Given the description of an element on the screen output the (x, y) to click on. 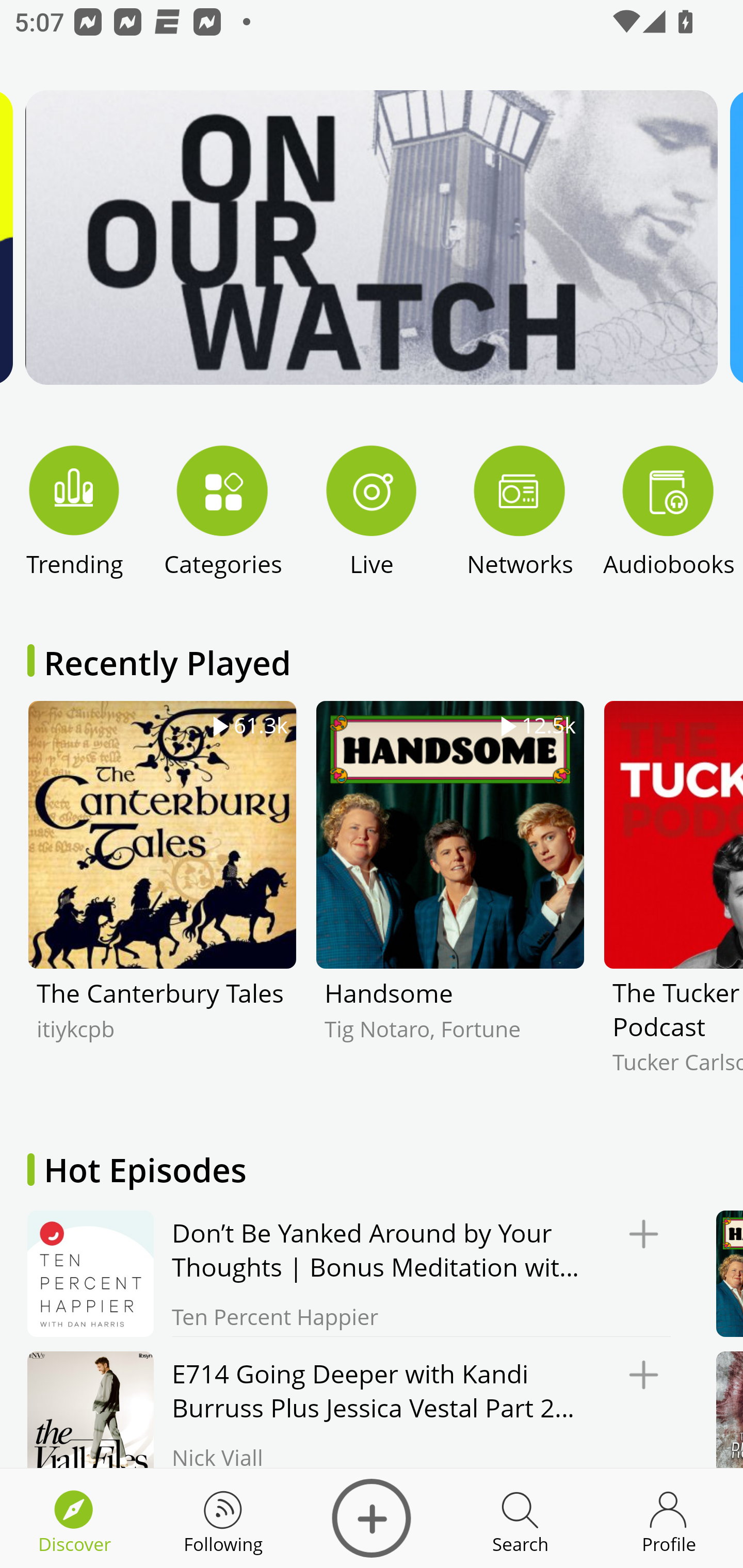
61.3k The Canterbury Tales itiykcpb (162, 902)
The Tucker Carlson Podcast Tucker Carlson (673, 902)
Discover Following (222, 1518)
Discover (371, 1518)
Discover Search (519, 1518)
Discover Profile (668, 1518)
